Given the description of an element on the screen output the (x, y) to click on. 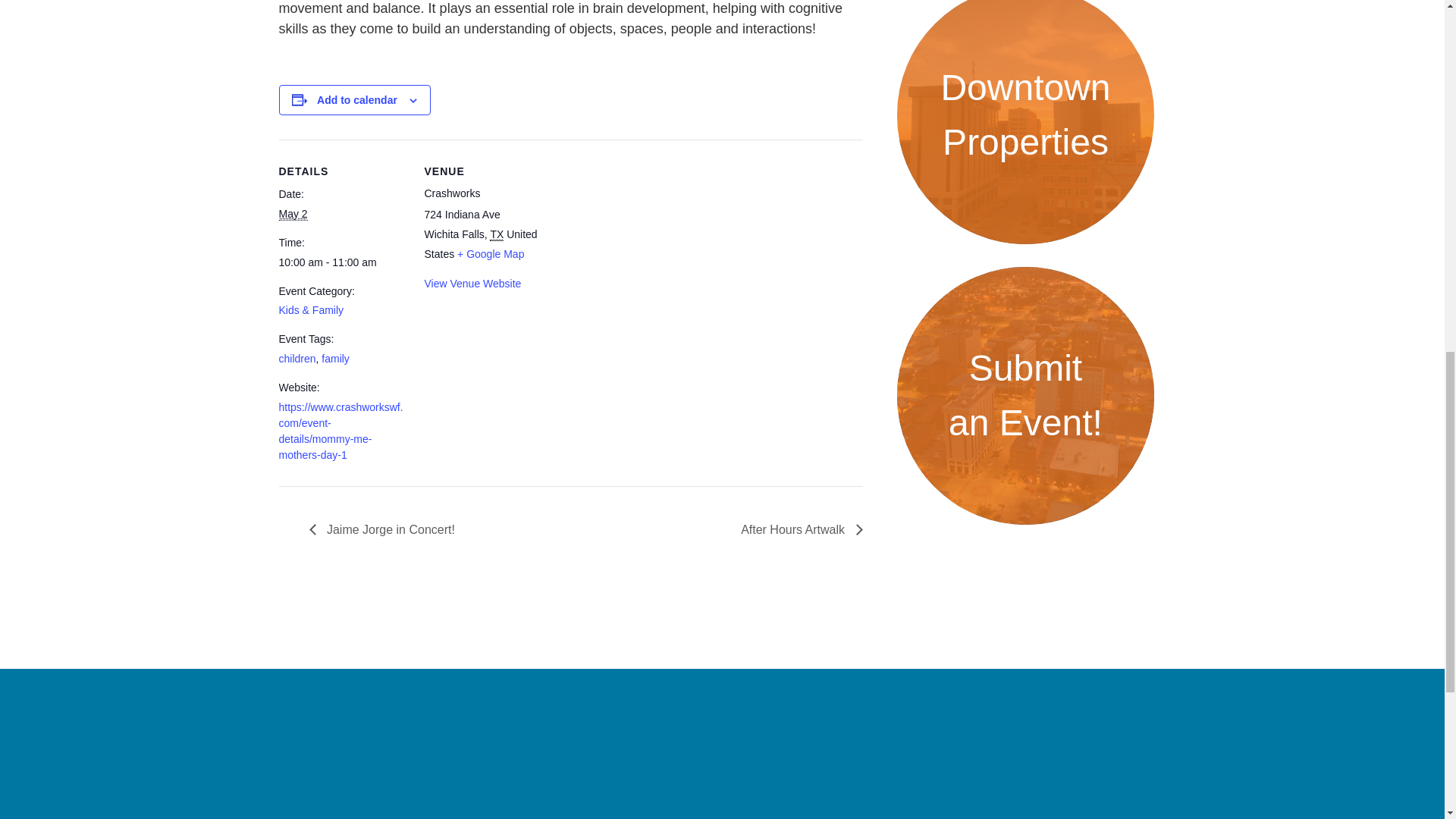
Add to calendar (357, 100)
Texas (496, 234)
2024-05-02 (293, 214)
Click to view a Google Map (490, 254)
family (335, 358)
children (297, 358)
2024-05-02 (342, 262)
